Given the description of an element on the screen output the (x, y) to click on. 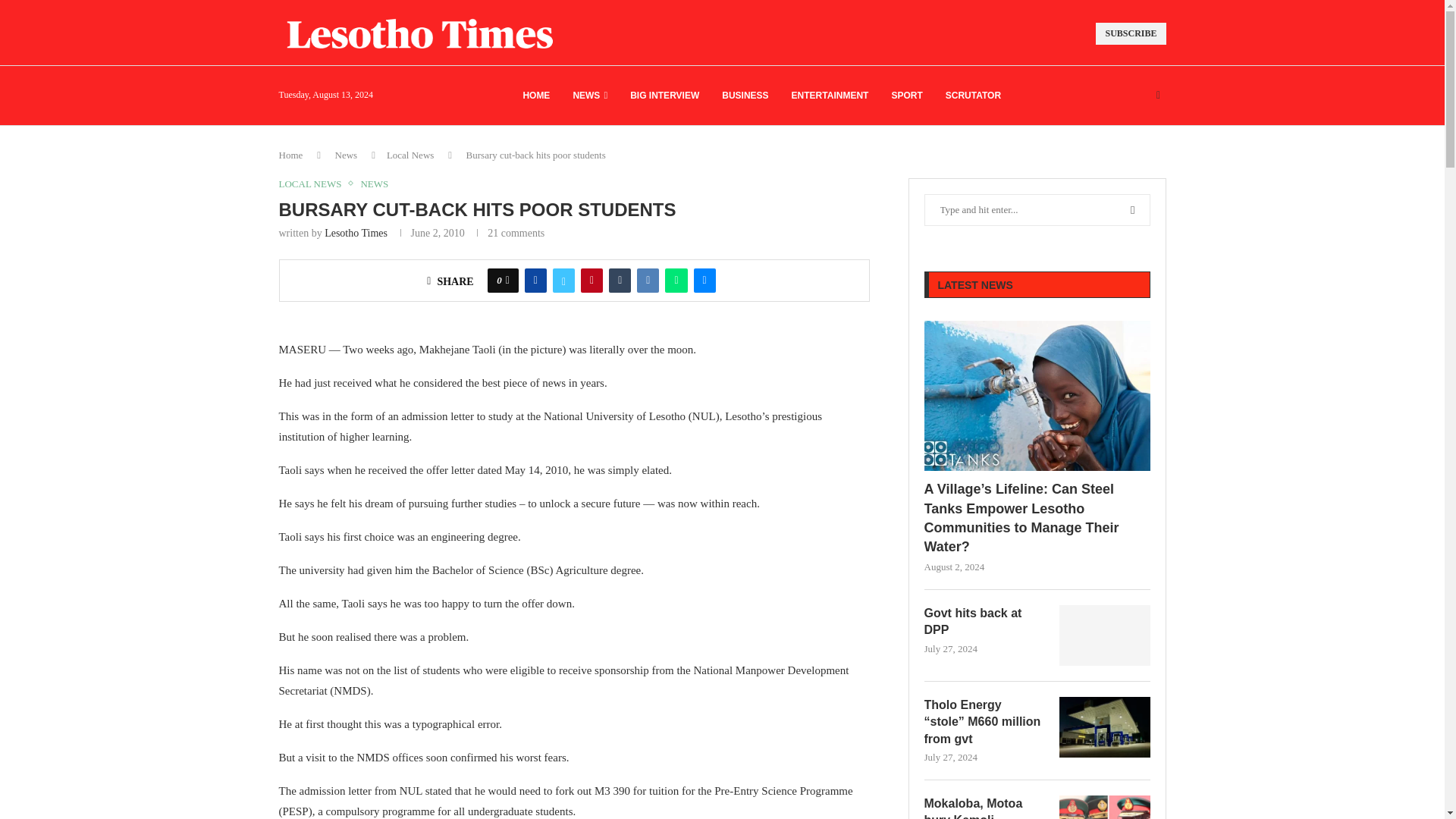
BUSINESS (745, 95)
BIG INTERVIEW (664, 95)
SCRUTATOR (972, 95)
SUBSCRIBE (1131, 33)
ENTERTAINMENT (830, 95)
